Given the description of an element on the screen output the (x, y) to click on. 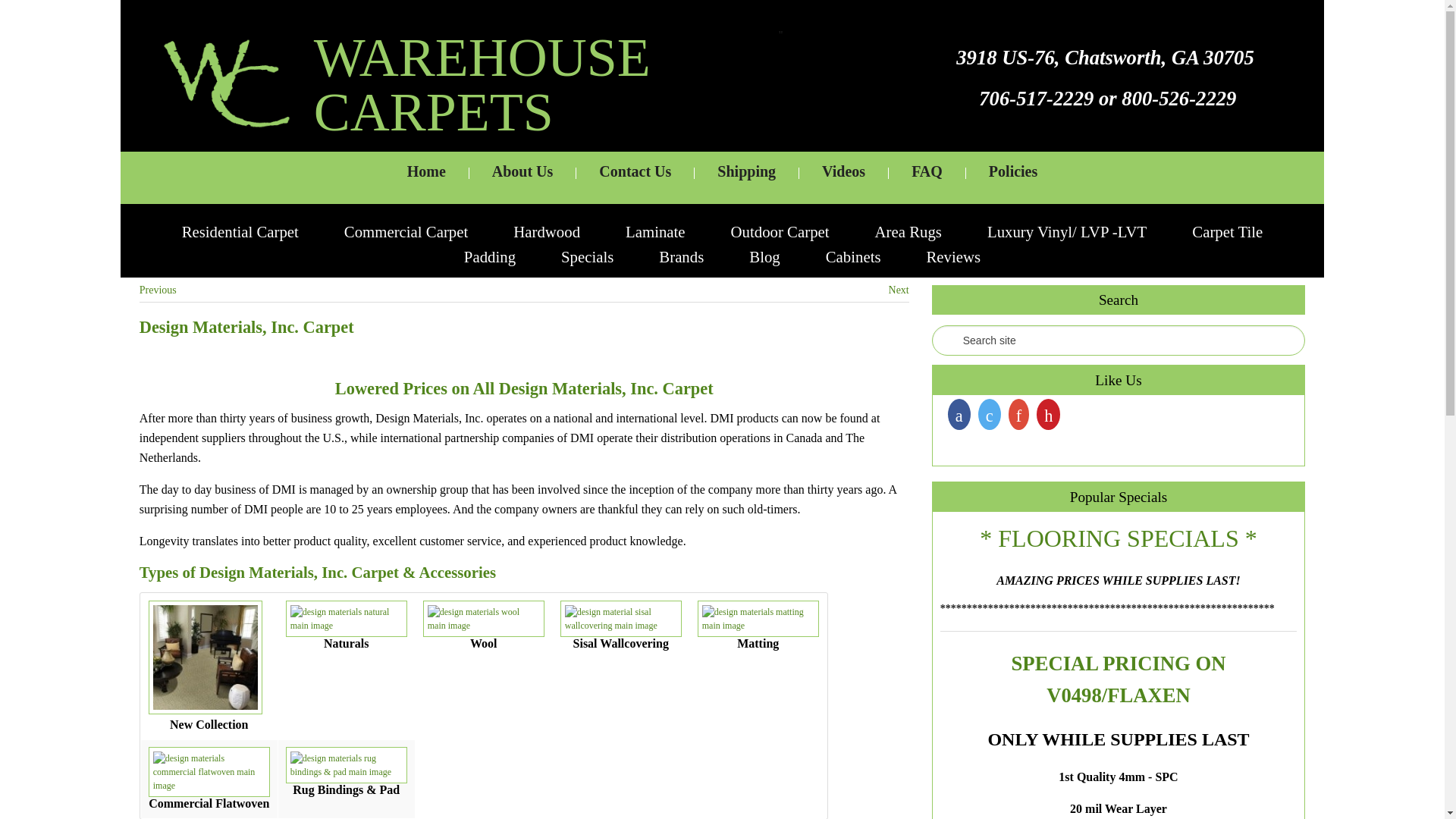
Previous (157, 289)
Area Rugs (908, 231)
Specials (586, 256)
Carpet Tile (1227, 231)
Search (21, 7)
Outdoor Carpet (779, 231)
Search site (1117, 340)
About Us (522, 177)
Hardwood (546, 231)
Reviews (953, 256)
Next (898, 289)
Videos (843, 177)
Blog (763, 256)
Shipping (746, 177)
Contact Us (634, 177)
